Given the description of an element on the screen output the (x, y) to click on. 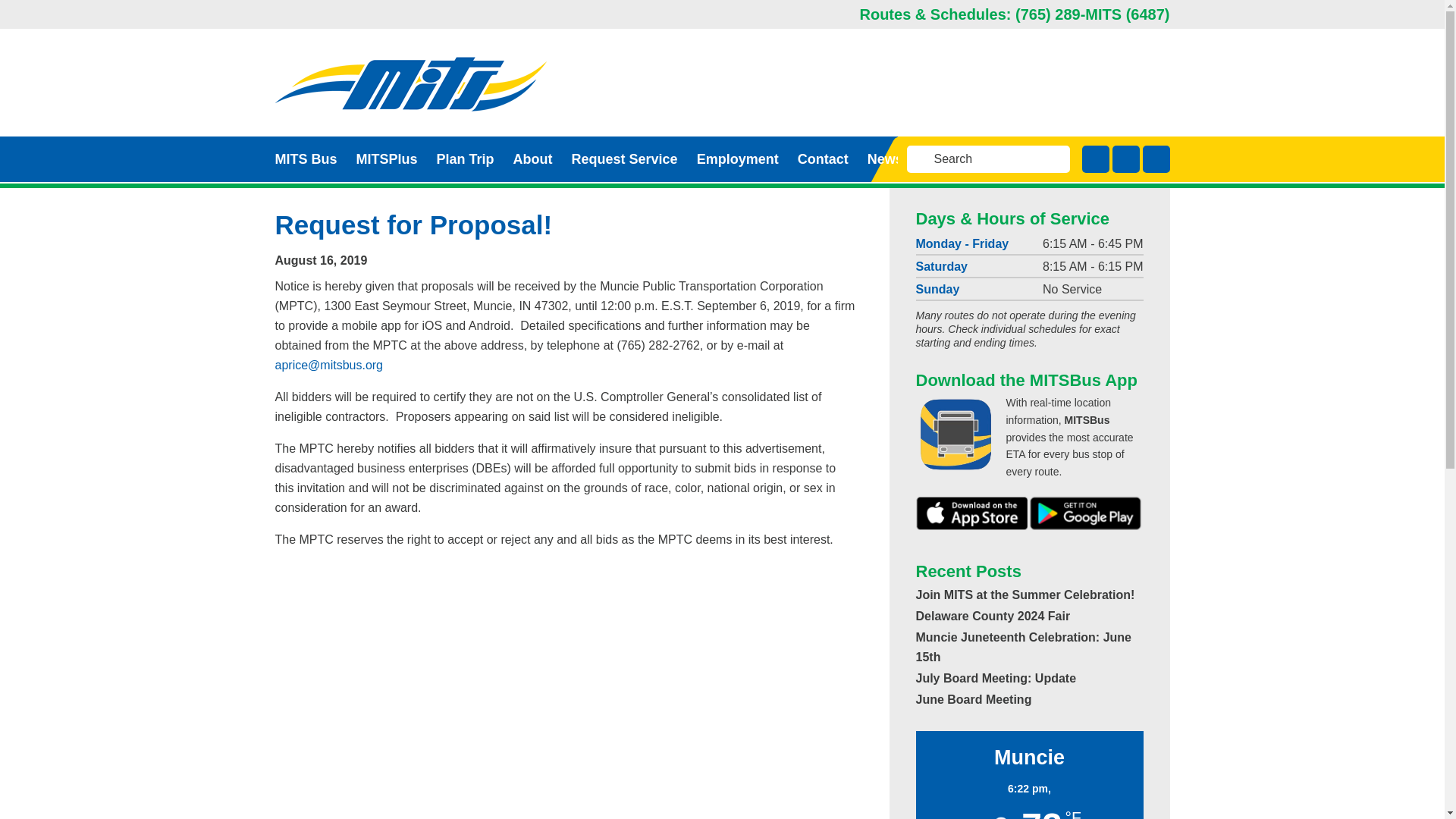
News (884, 158)
Search for: (920, 158)
About (533, 158)
Plan Trip (465, 158)
Facebook (1094, 158)
Contact (822, 158)
MITS Bus (305, 158)
Twitter (1125, 158)
Employment (737, 158)
Request Service (625, 158)
MITSPlus (386, 158)
